Given the description of an element on the screen output the (x, y) to click on. 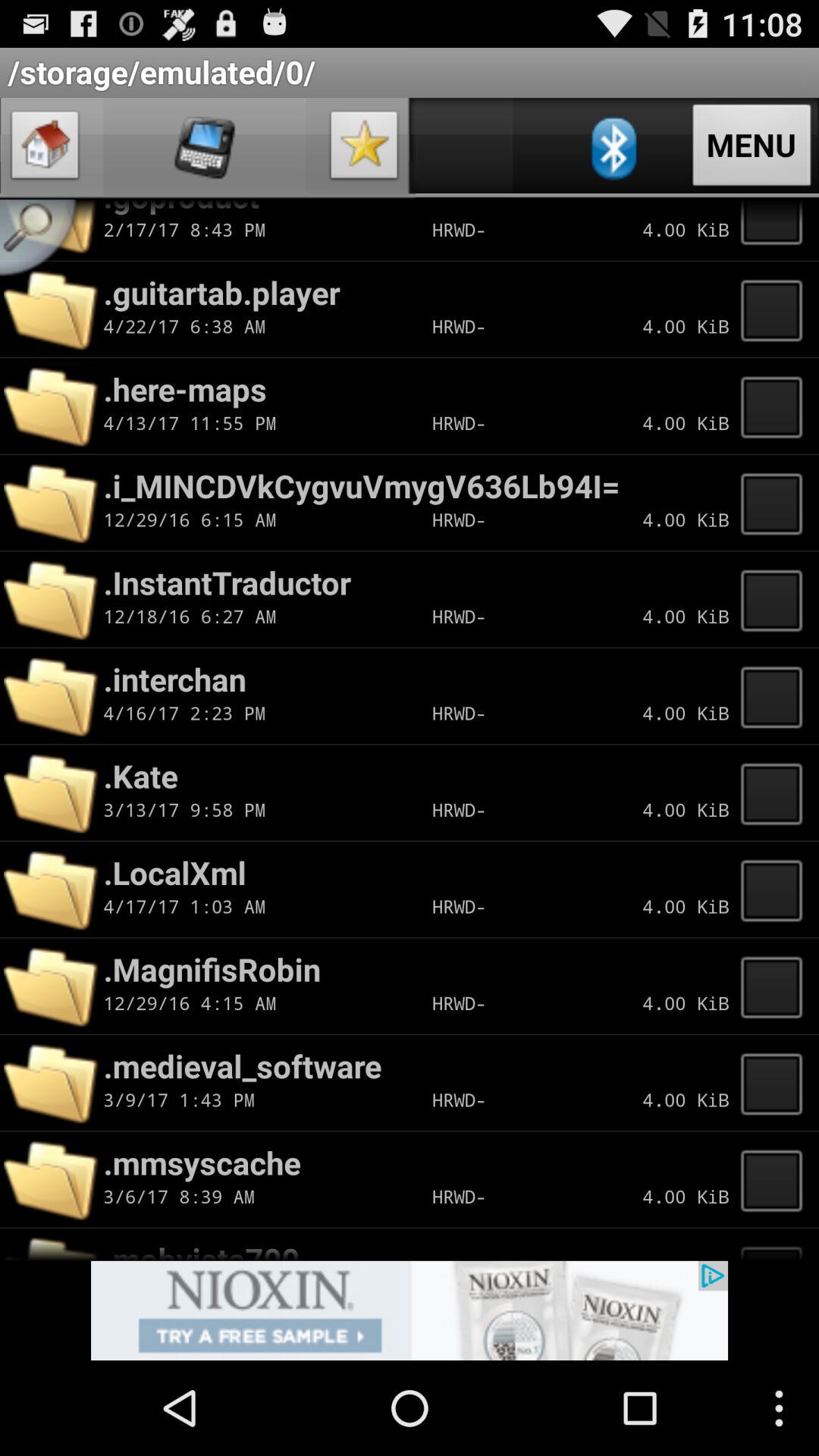
favorite option (363, 148)
